Given the description of an element on the screen output the (x, y) to click on. 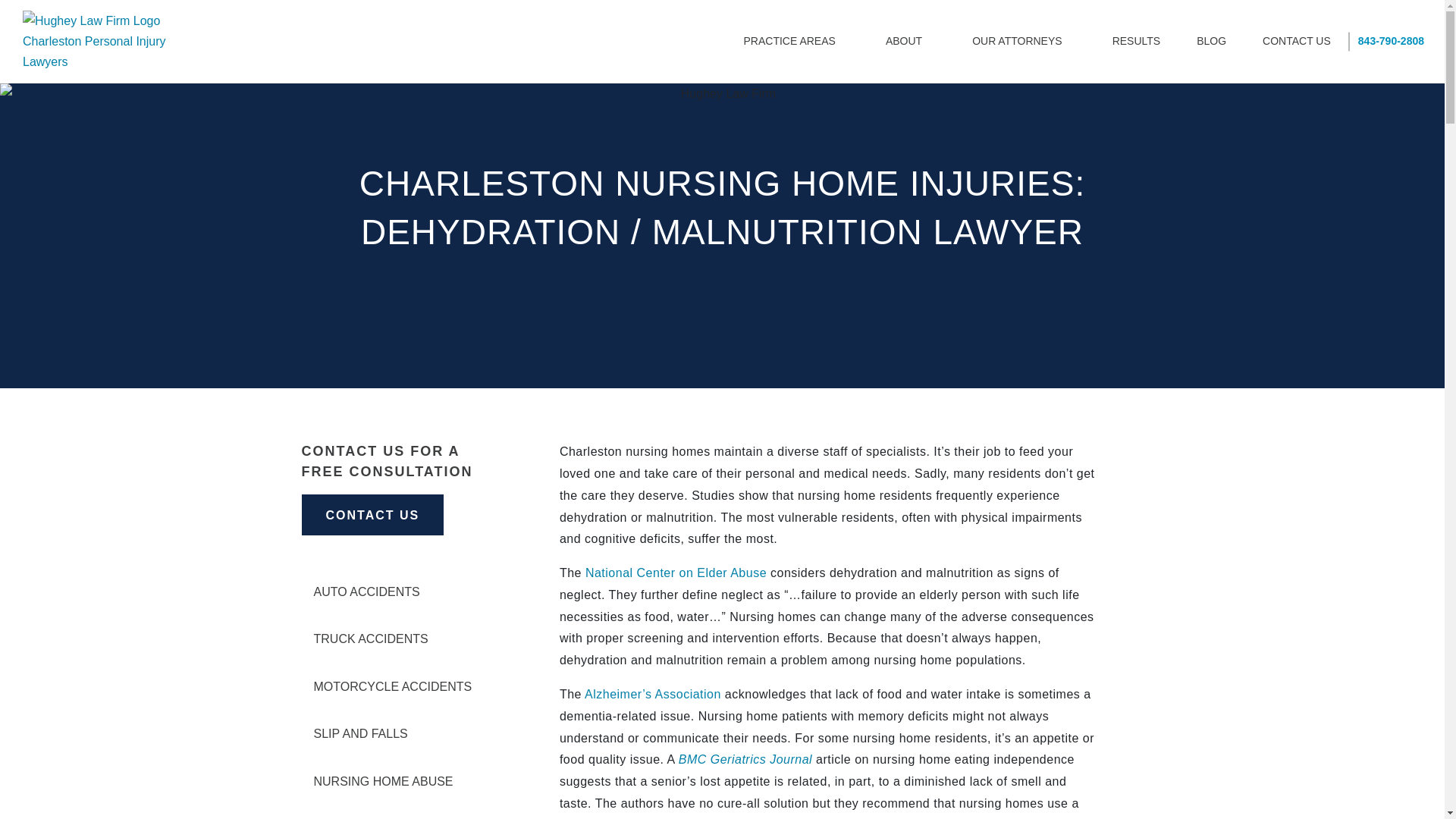
ABOUT (910, 41)
MOTORCYCLE ACCIDENTS (398, 686)
Hughey Law Firm (98, 41)
AUTO ACCIDENTS (398, 591)
OUR ATTORNEYS (1023, 41)
SLIP AND FALLS (398, 733)
843-790-2808 (1390, 41)
TRUCK ACCIDENTS (398, 639)
About (910, 41)
PRACTICE AREAS (796, 41)
CONTACT US (372, 514)
CONTACT US (1296, 41)
RESULTS (1136, 41)
NURSING HOME ABUSE (398, 781)
BICYCLE ACCIDENTS (398, 813)
